Given the description of an element on the screen output the (x, y) to click on. 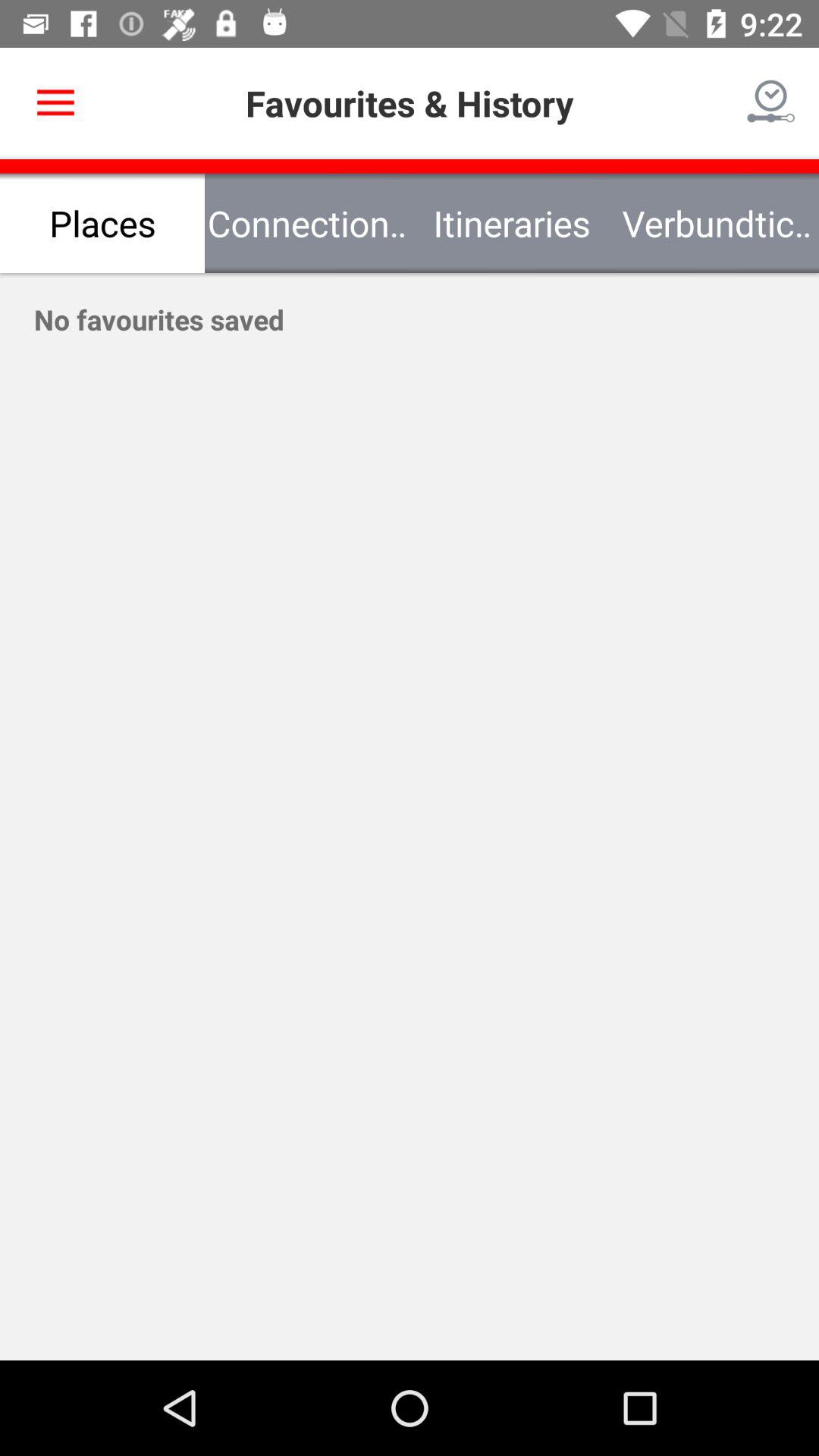
jump to the verbundtickets icon (716, 223)
